Given the description of an element on the screen output the (x, y) to click on. 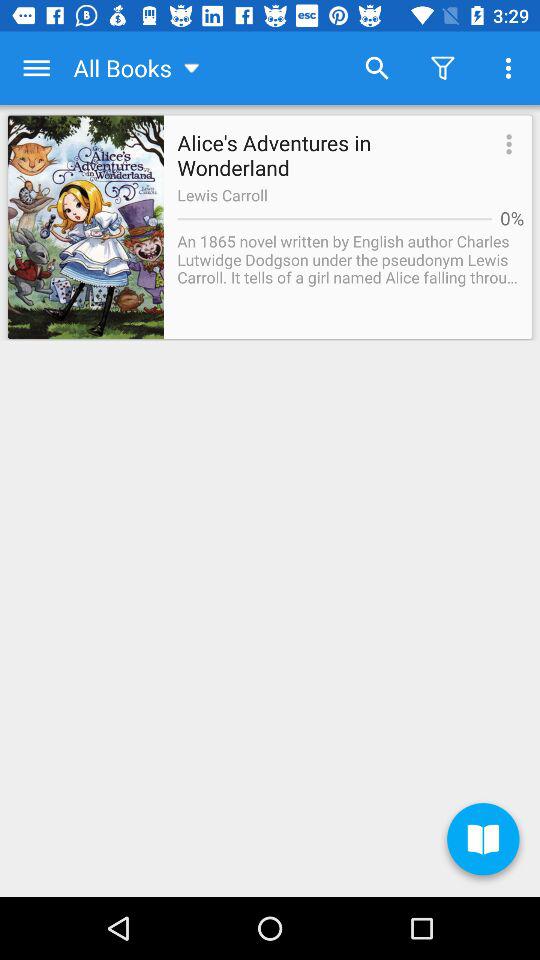
launch the app to the left of the all books icon (36, 68)
